Given the description of an element on the screen output the (x, y) to click on. 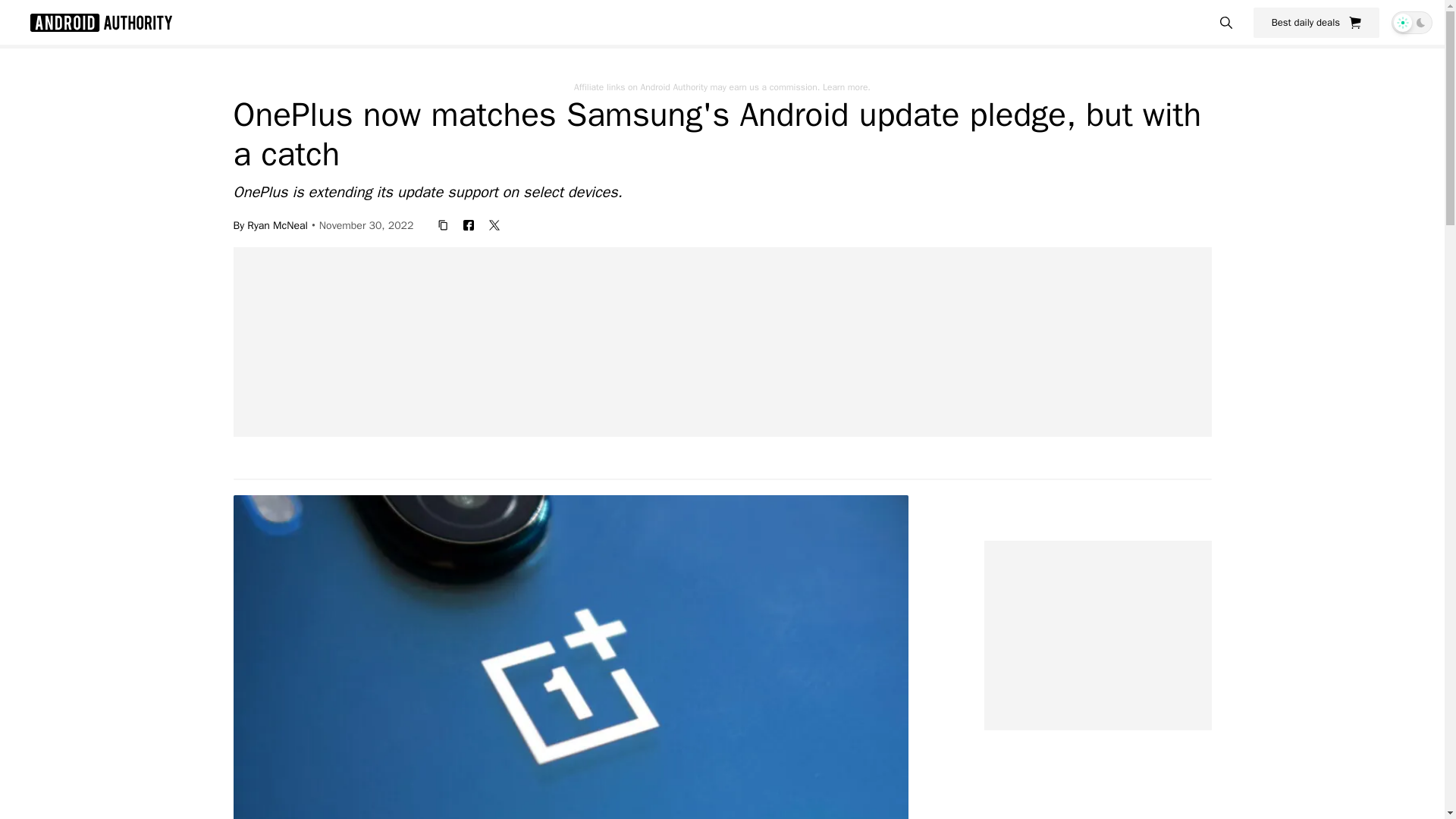
Ryan McNeal (277, 224)
Best daily deals (1315, 22)
Learn more. (846, 86)
facebook (468, 225)
twitter (493, 225)
